Given the description of an element on the screen output the (x, y) to click on. 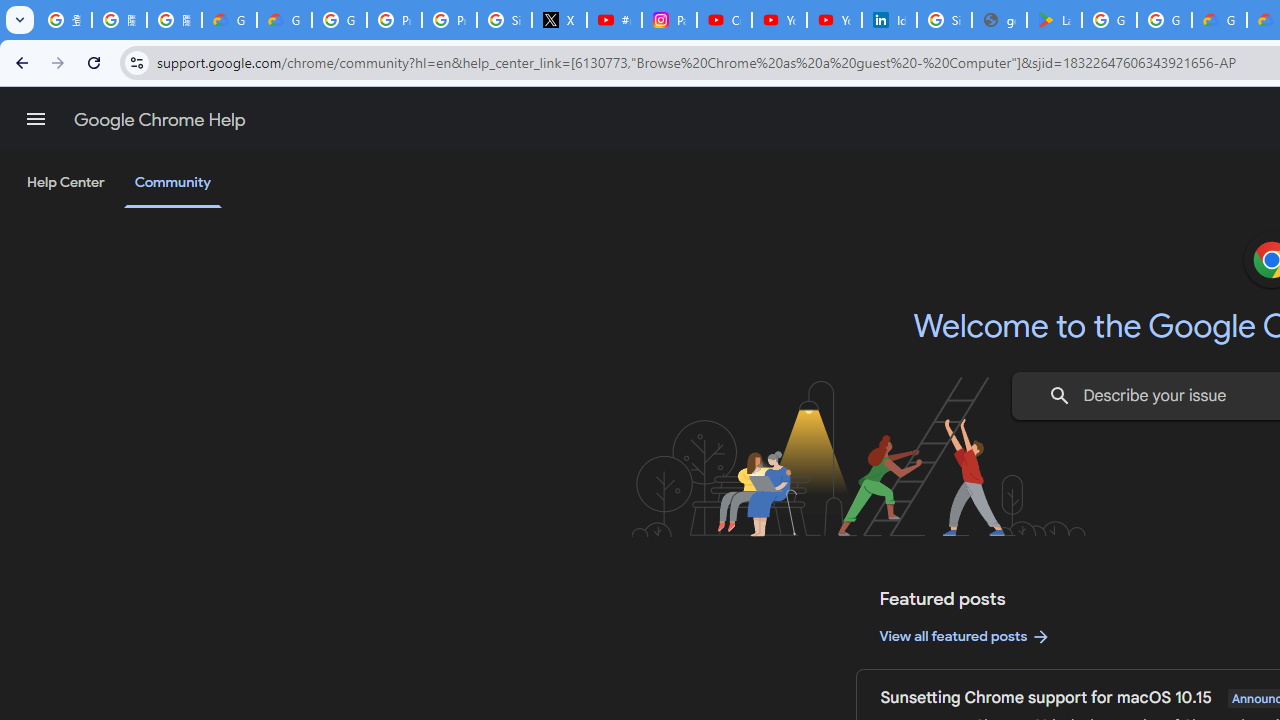
Community (171, 183)
Government | Google Cloud (1218, 20)
Help Center (65, 183)
Sign in - Google Accounts (943, 20)
Google Cloud Privacy Notice (229, 20)
